Given the description of an element on the screen output the (x, y) to click on. 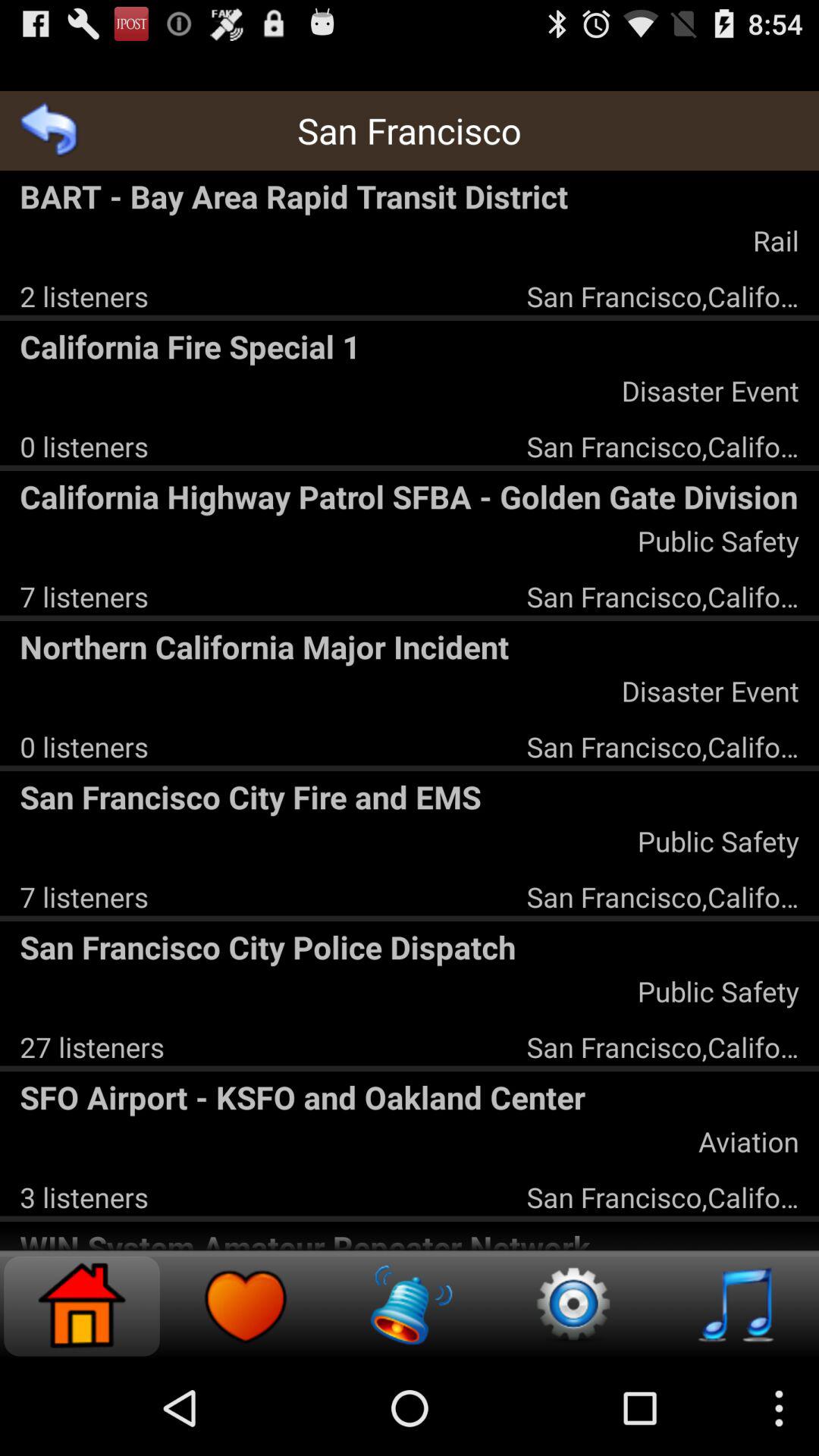
turn on the item to the left of the san francisco,california (91, 1046)
